Given the description of an element on the screen output the (x, y) to click on. 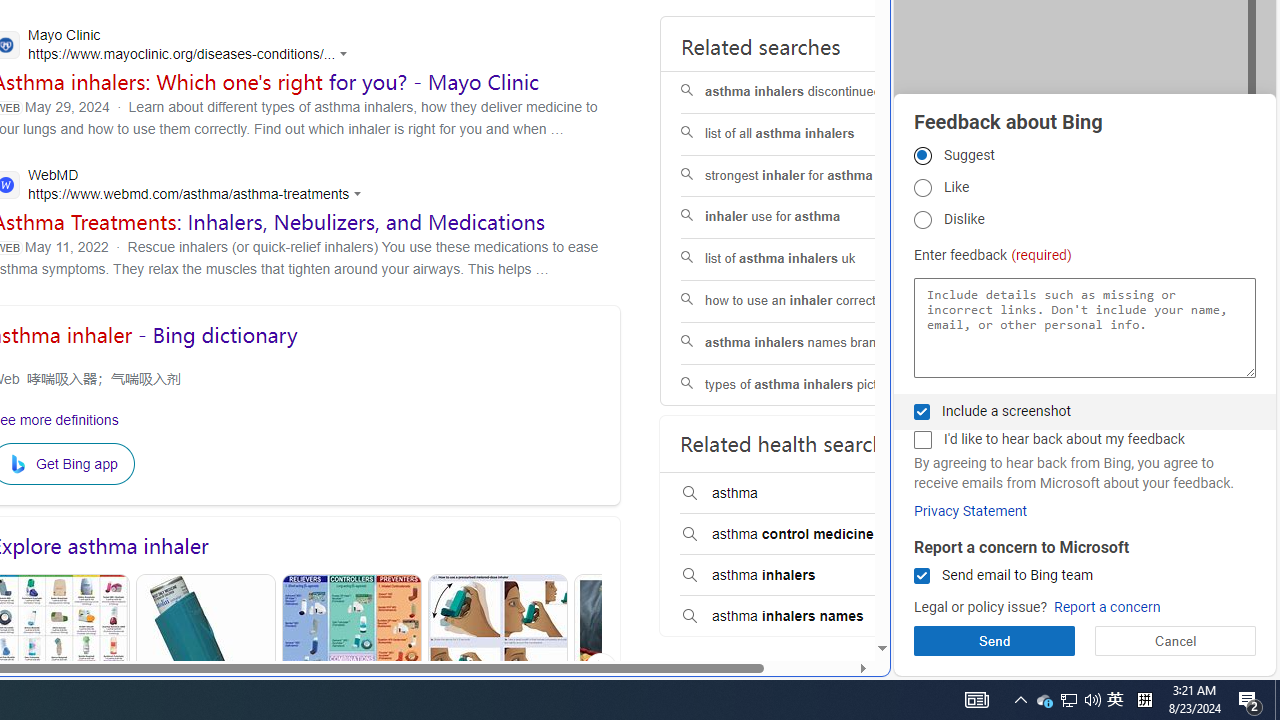
Send email to Bing team (921, 575)
asthma inhalers (807, 575)
types of asthma inhalers pictures (807, 385)
Search more (836, 588)
list of all asthma inhalers (807, 133)
list of asthma inhalers uk (807, 259)
Report a concern (1106, 607)
how to use an inhaler correctly (807, 300)
asthma inhalers discontinued (807, 92)
inhaler use for asthma (807, 218)
asthma inhalers names brands (807, 342)
